Given the description of an element on the screen output the (x, y) to click on. 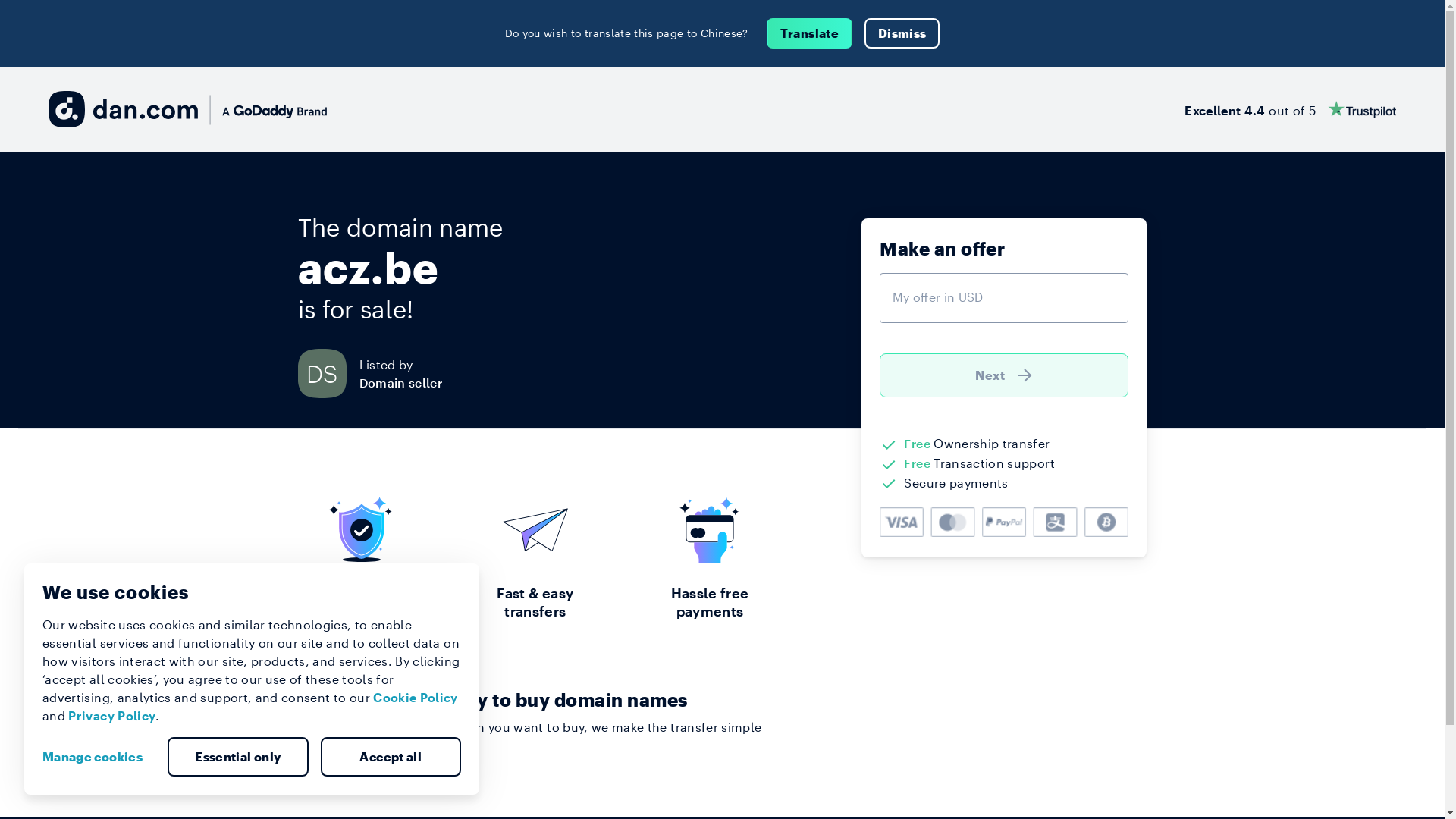
Excellent 4.4 out of 5 Element type: text (1290, 109)
Next
) Element type: text (1003, 375)
Translate Element type: text (809, 33)
Essential only Element type: text (237, 756)
Manage cookies Element type: text (98, 756)
Privacy Policy Element type: text (111, 715)
Dismiss Element type: text (901, 33)
Accept all Element type: text (390, 756)
Cookie Policy Element type: text (415, 697)
